Given the description of an element on the screen output the (x, y) to click on. 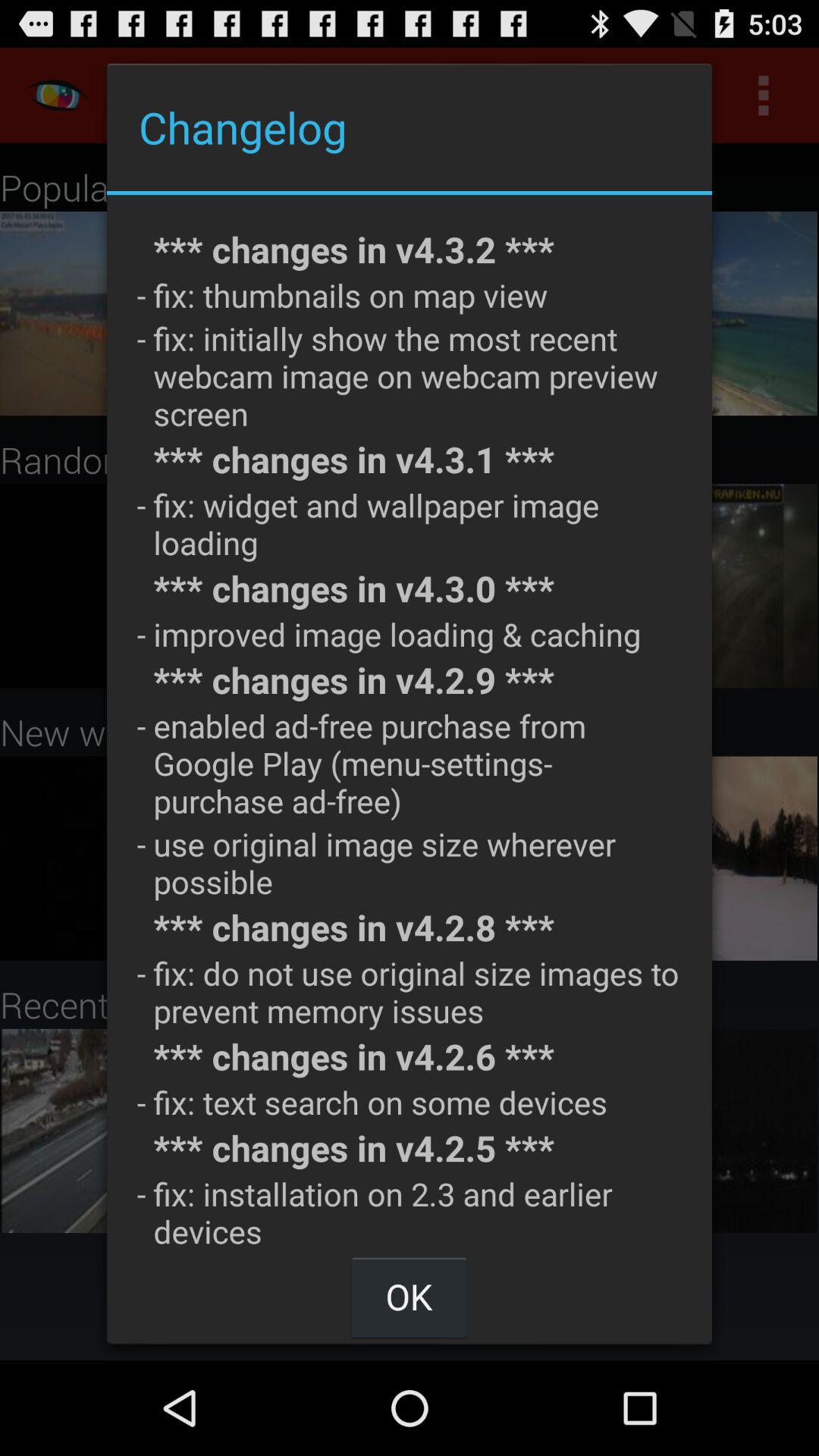
choose ok   icon (408, 1296)
